Given the description of an element on the screen output the (x, y) to click on. 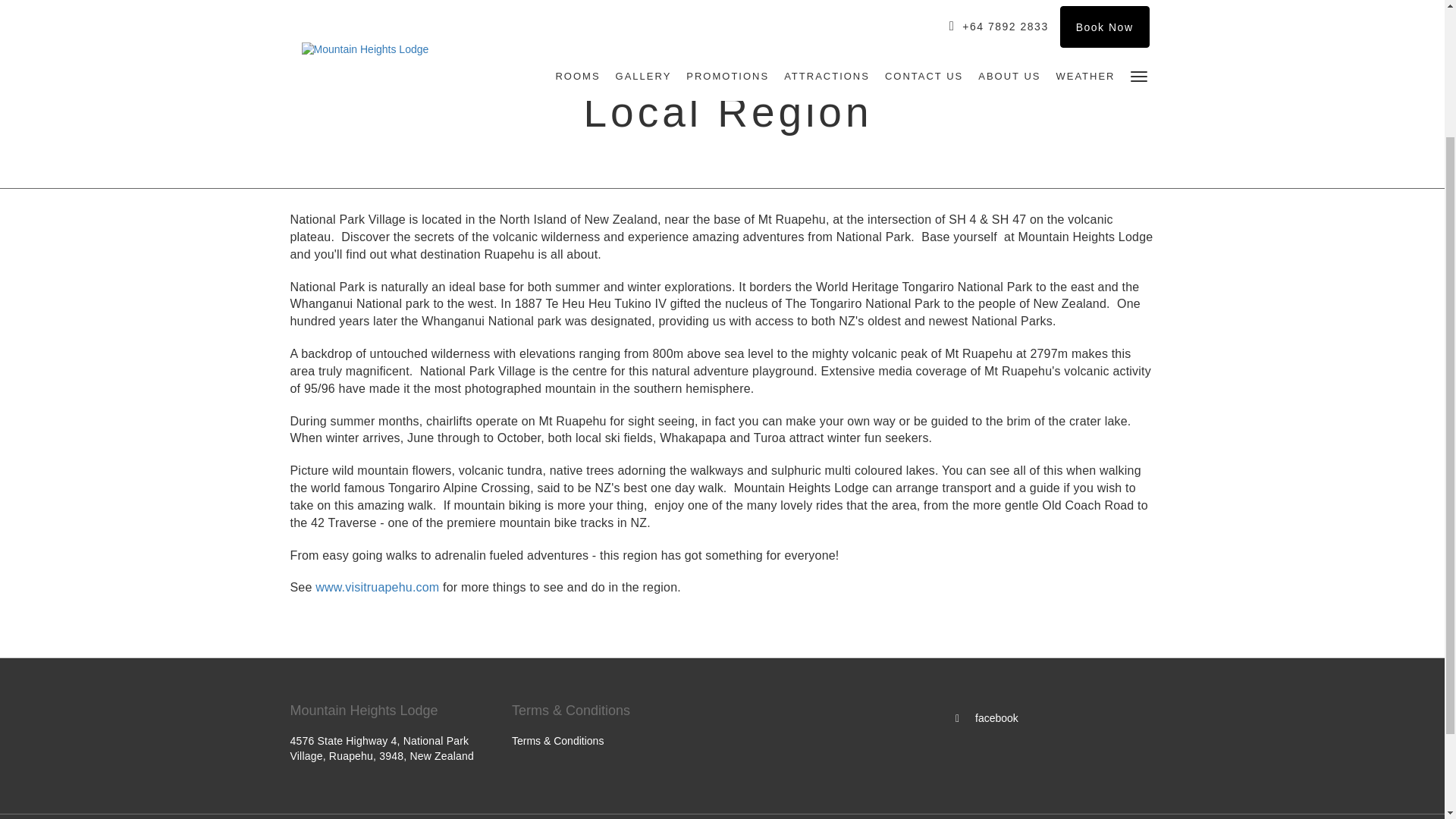
facebook (986, 717)
www.visitruapehu.com (377, 586)
